Given the description of an element on the screen output the (x, y) to click on. 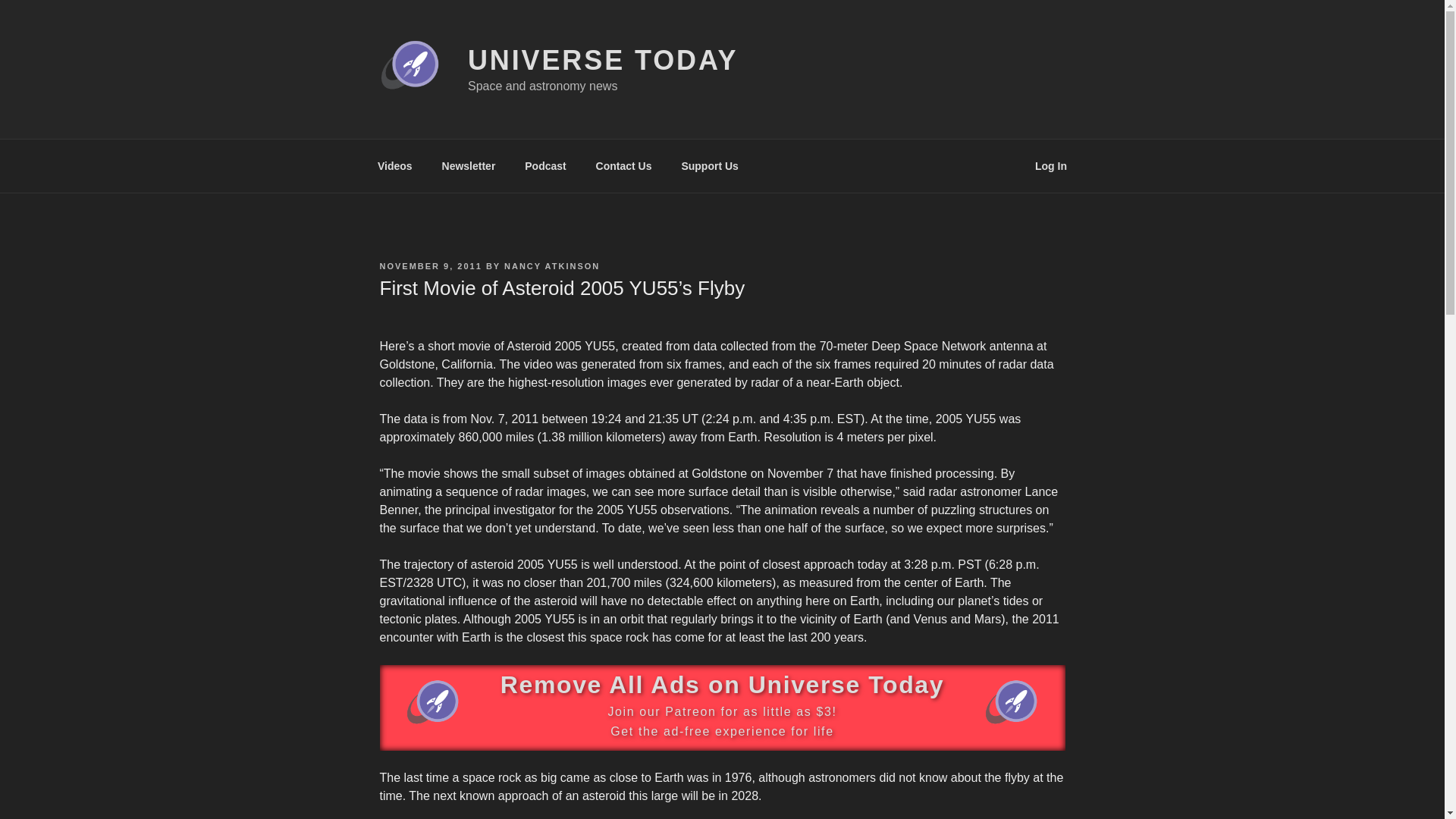
Podcast (545, 165)
Contact Us (623, 165)
UNIVERSE TODAY (602, 60)
Videos (394, 165)
Log In (1051, 165)
NANCY ATKINSON (551, 266)
Newsletter (468, 165)
NOVEMBER 9, 2011 (429, 266)
Support Us (709, 165)
